Given the description of an element on the screen output the (x, y) to click on. 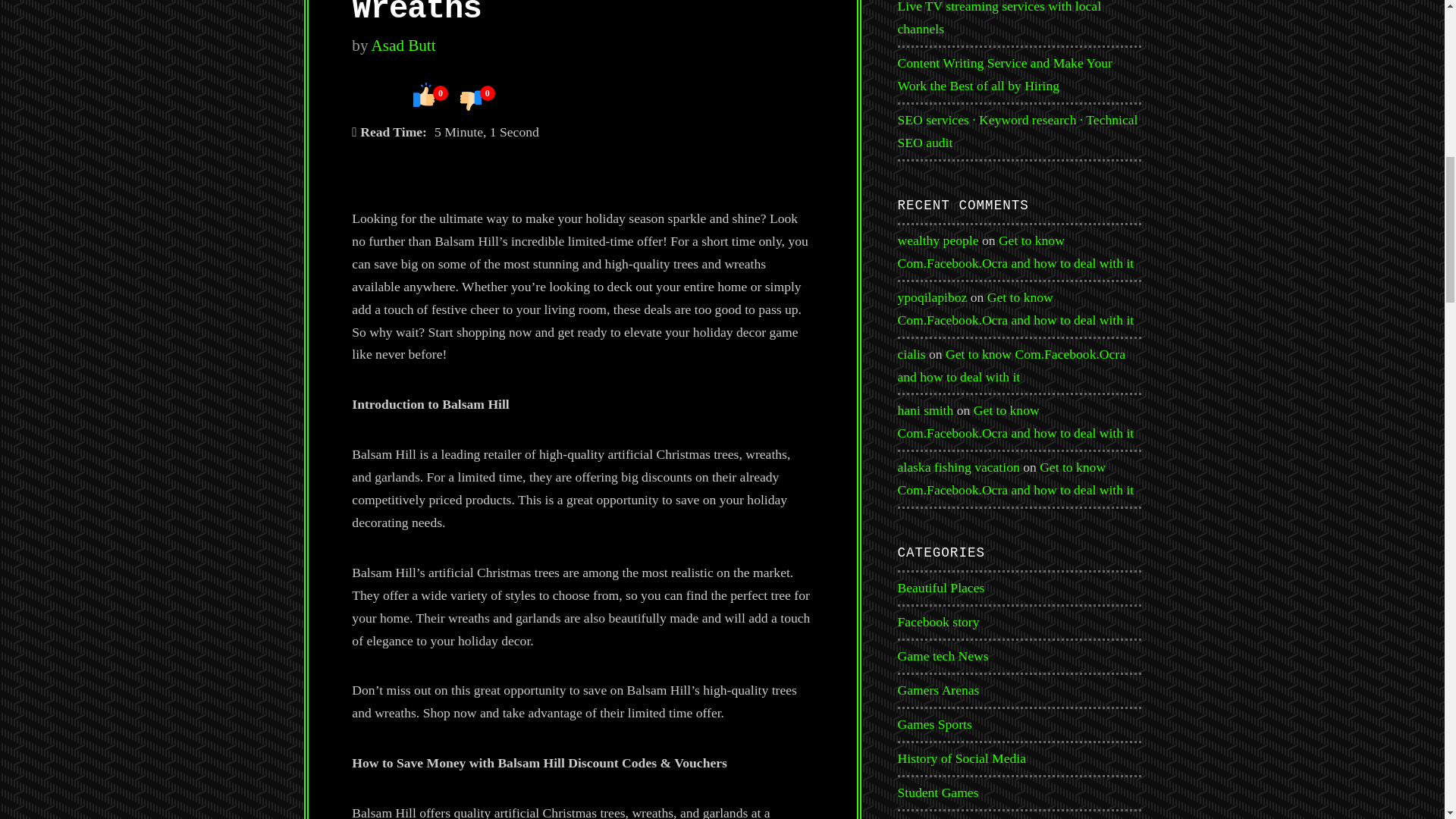
hani smith (925, 409)
Get to know Com.Facebook.Ocra and how to deal with it (1016, 251)
ypoqilapiboz (933, 296)
wealthy people (938, 240)
Get to know Com.Facebook.Ocra and how to deal with it (1011, 365)
Live TV streaming services with local channels (1000, 18)
Posts by asad butt (403, 45)
Get to know Com.Facebook.Ocra and how to deal with it (1016, 308)
Asad Butt (403, 45)
cialis (912, 353)
